Given the description of an element on the screen output the (x, y) to click on. 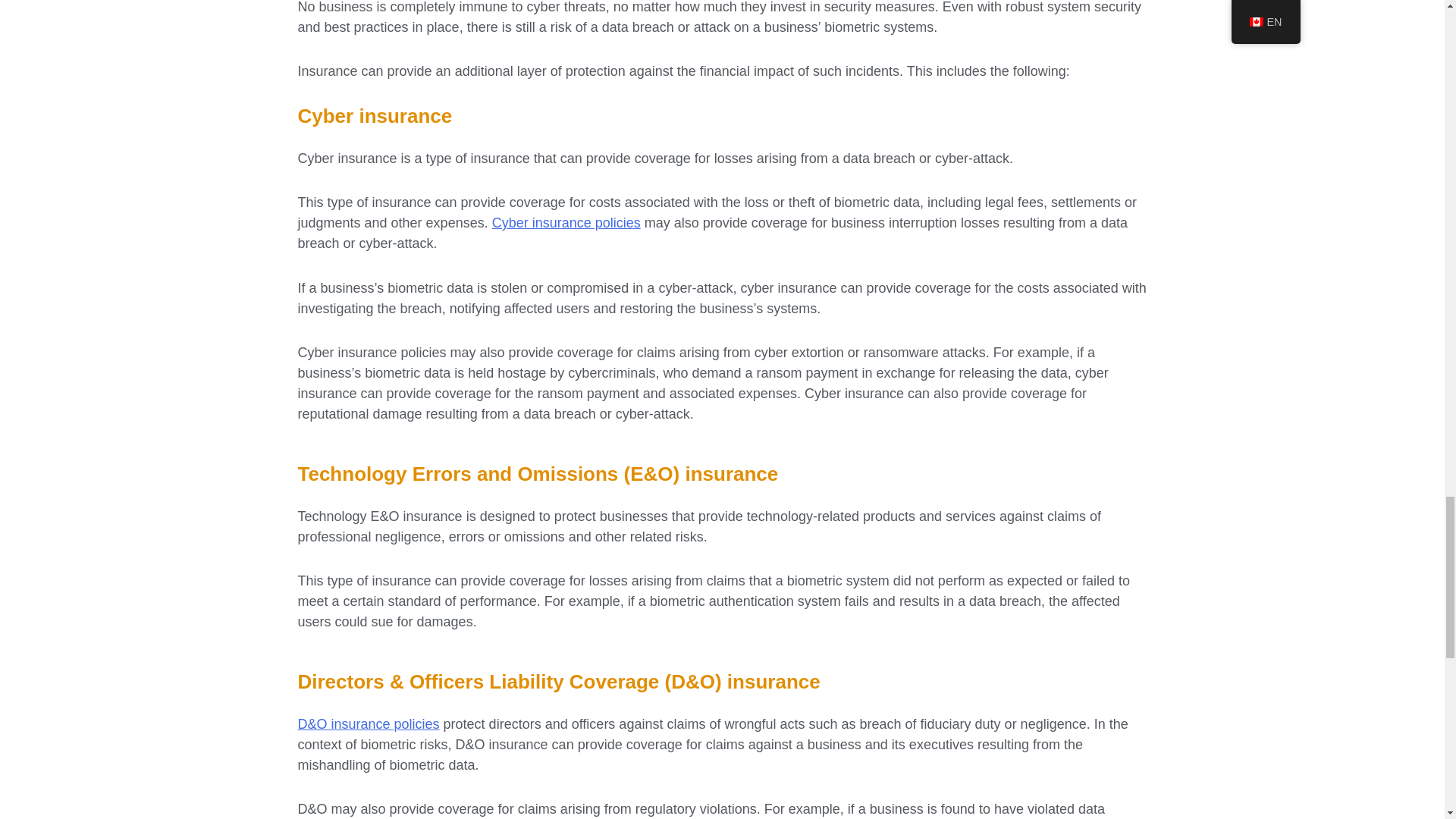
Cyber insurance policies (566, 222)
